Given the description of an element on the screen output the (x, y) to click on. 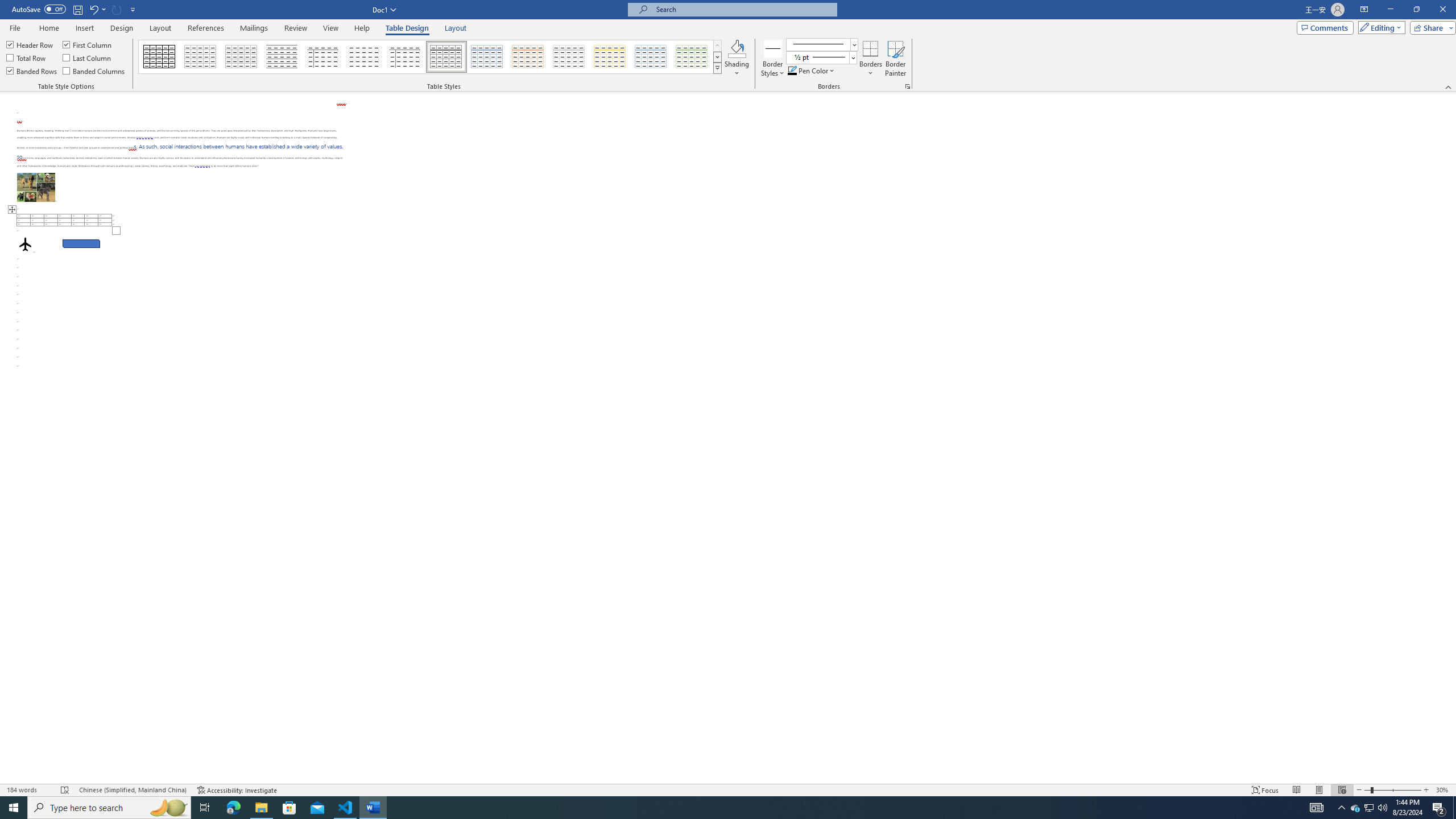
Zoom In (1426, 790)
Grid Table 1 Light - Accent 2 (528, 56)
Review (295, 28)
Customize Quick Access Toolbar (133, 9)
Quick Access Toolbar (74, 9)
System (6, 6)
Editing (1379, 27)
Minimize (1390, 9)
First Column (88, 44)
Open (852, 57)
Rectangle: Diagonal Corners Snipped 2 (81, 243)
Print Layout (1318, 790)
Row Down (717, 56)
Class: NetUIScrollBar (1450, 437)
